Given the description of an element on the screen output the (x, y) to click on. 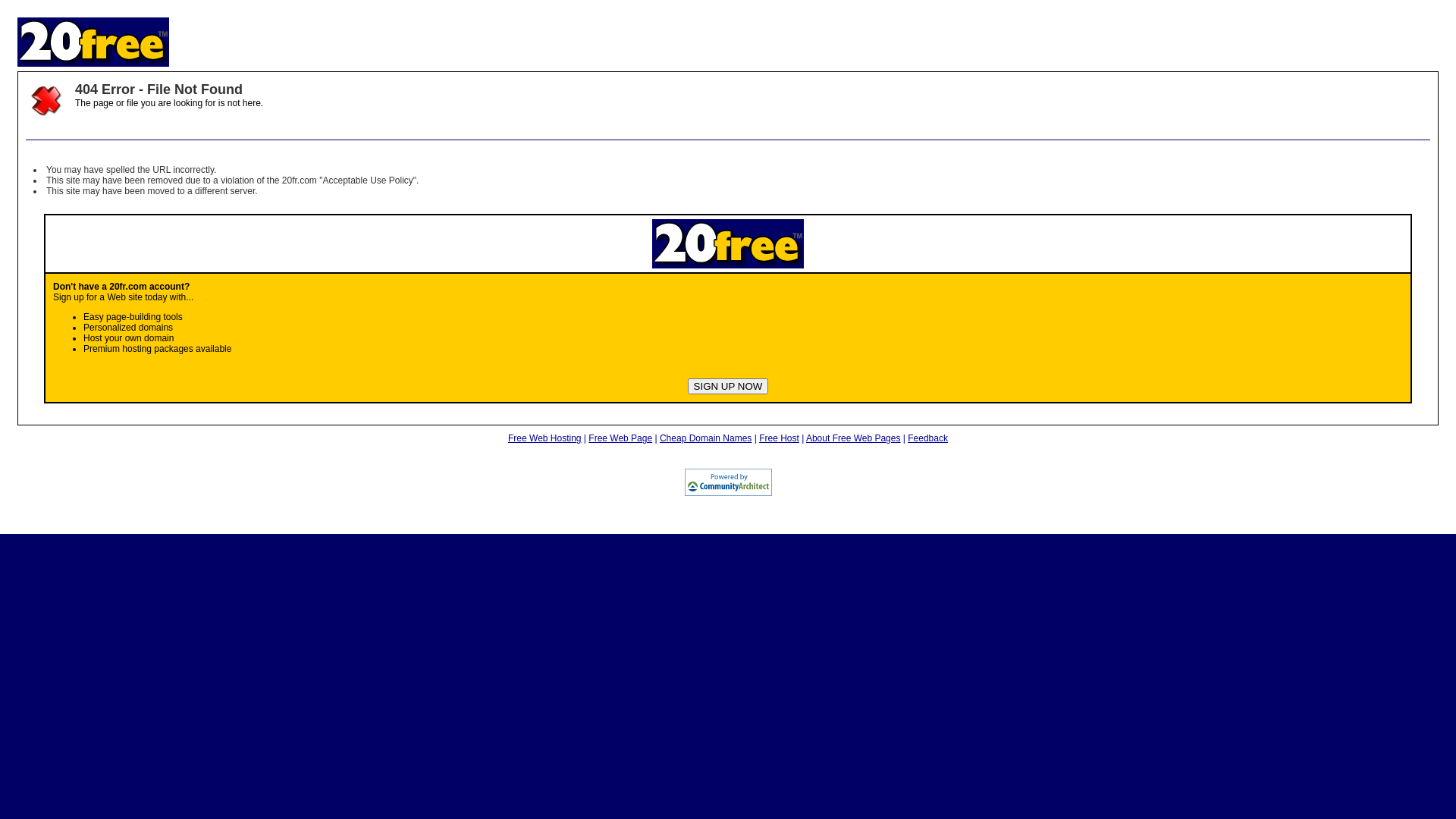
Feedback Element type: text (927, 438)
About Free Web Pages Element type: text (853, 438)
Free Host Element type: text (779, 438)
Free Web Hosting Element type: text (544, 438)
Cheap Domain Names Element type: text (705, 438)
Free Web Page Element type: text (620, 438)
SIGN UP NOW Element type: text (727, 386)
